Given the description of an element on the screen output the (x, y) to click on. 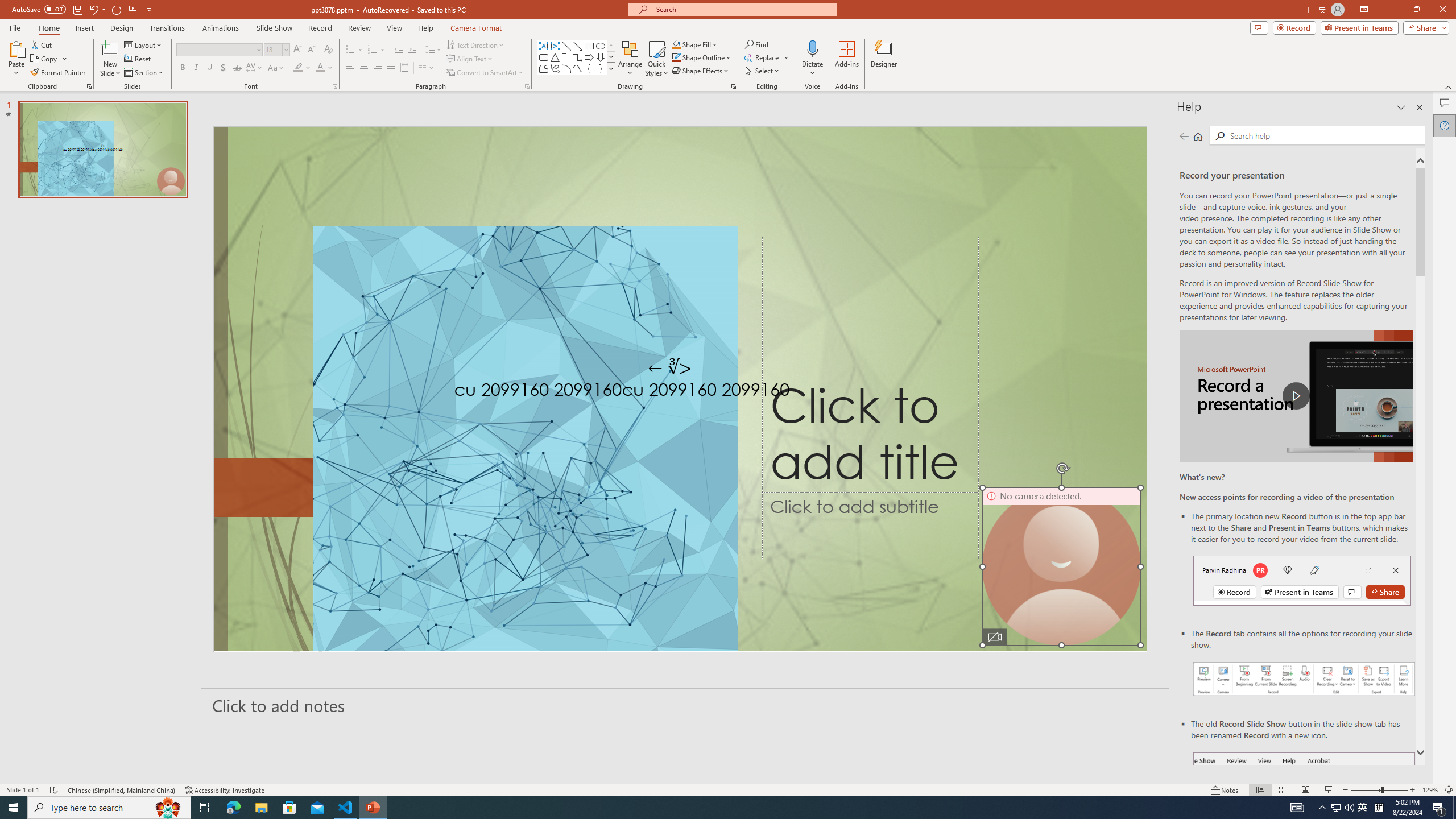
Record your presentations screenshot one (1304, 678)
